Given the description of an element on the screen output the (x, y) to click on. 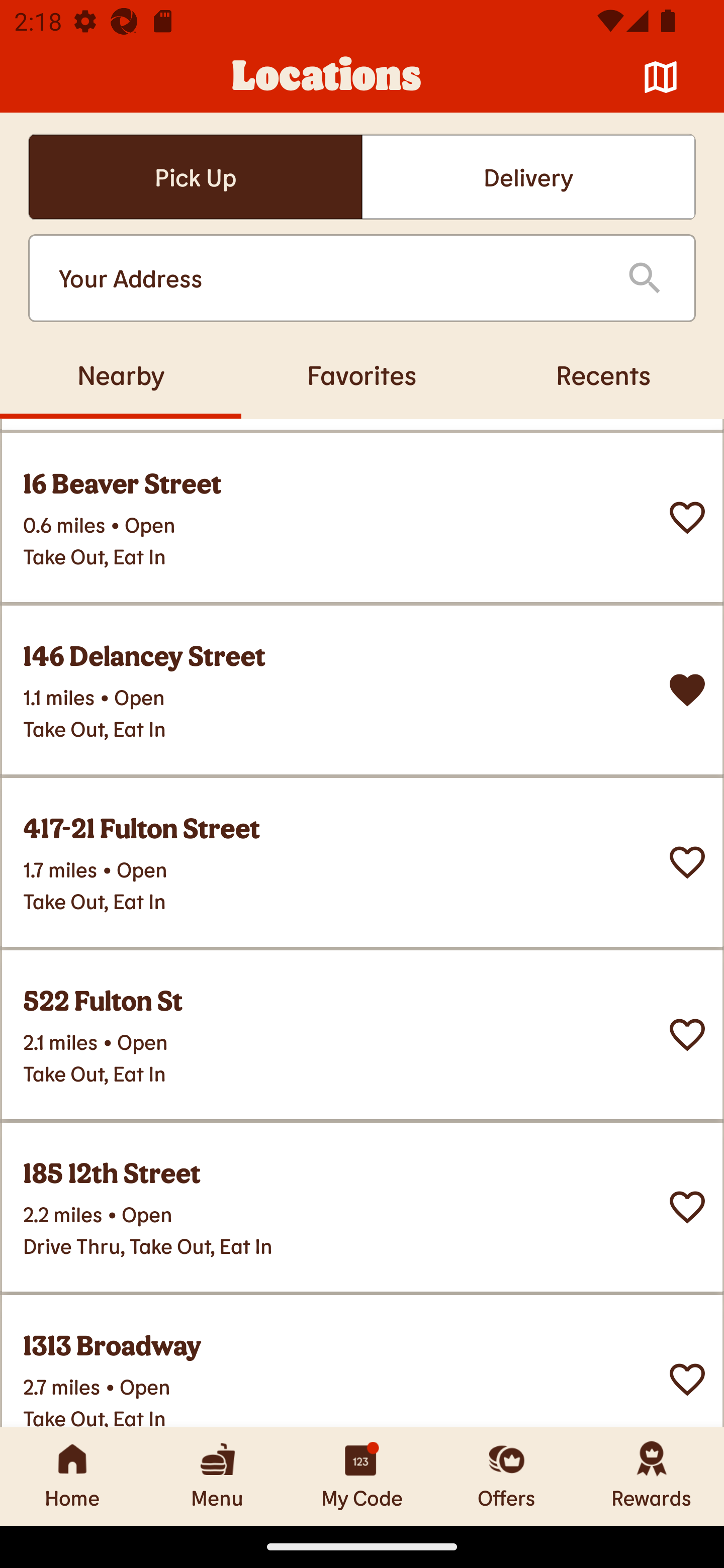
Map 󰦂 (660, 77)
Locations (326, 77)
Pick UpSelected Pick UpSelected Pick Up (195, 176)
Delivery Delivery Delivery (528, 176)
Your Address (327, 277)
Nearby (120, 374)
Favorites (361, 374)
Recents (603, 374)
Set this restaurant as a favorite  (687, 517)
Remove from Favorites?  (687, 689)
Set this restaurant as a favorite  (687, 861)
Set this restaurant as a favorite  (687, 1034)
Set this restaurant as a favorite  (687, 1206)
Set this restaurant as a favorite  (687, 1378)
Home (72, 1475)
Menu (216, 1475)
My Code (361, 1475)
Offers (506, 1475)
Rewards (651, 1475)
